Given the description of an element on the screen output the (x, y) to click on. 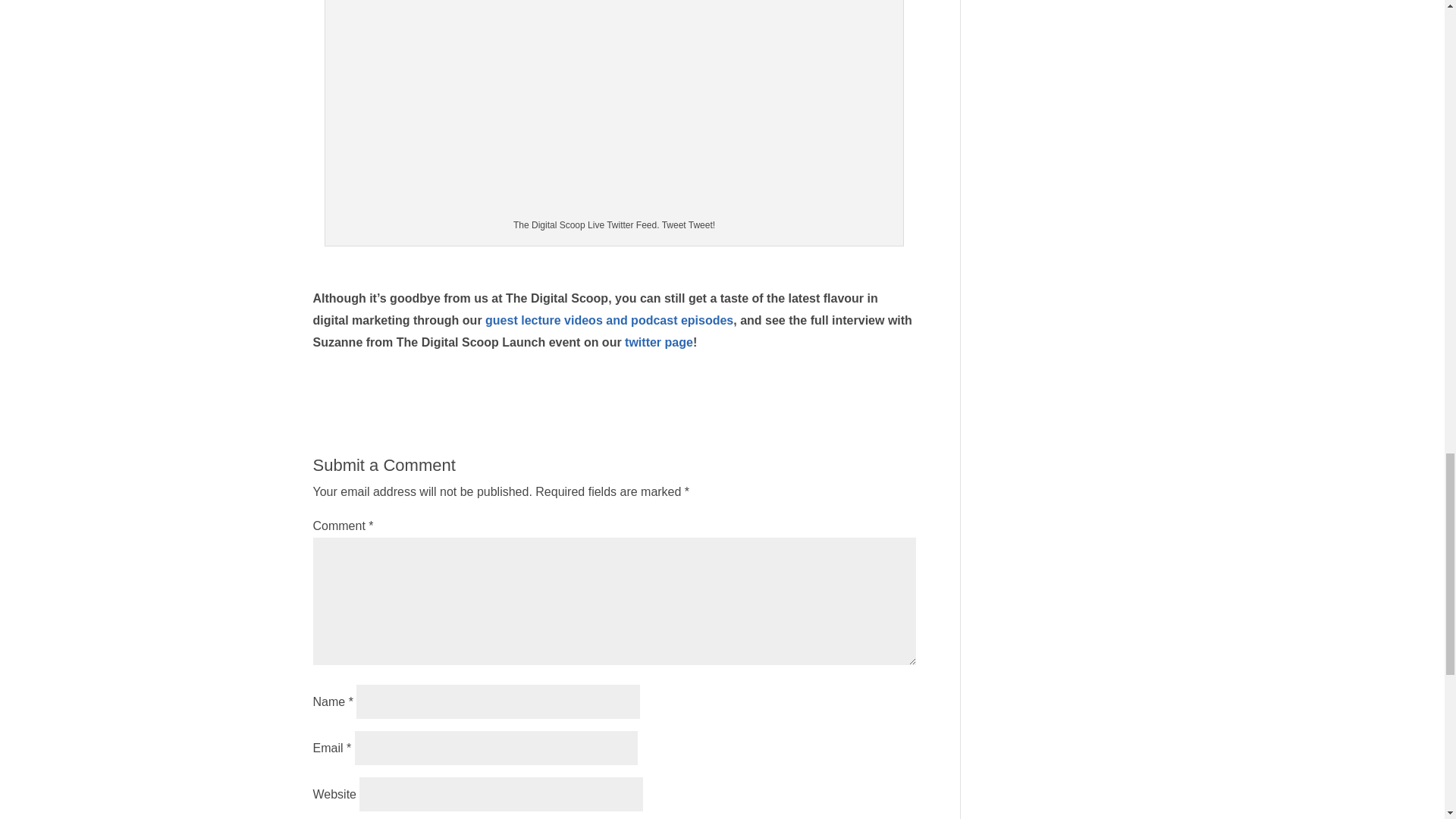
guest lecture videos and podcast episodes (608, 319)
twitter page (658, 341)
